Given the description of an element on the screen output the (x, y) to click on. 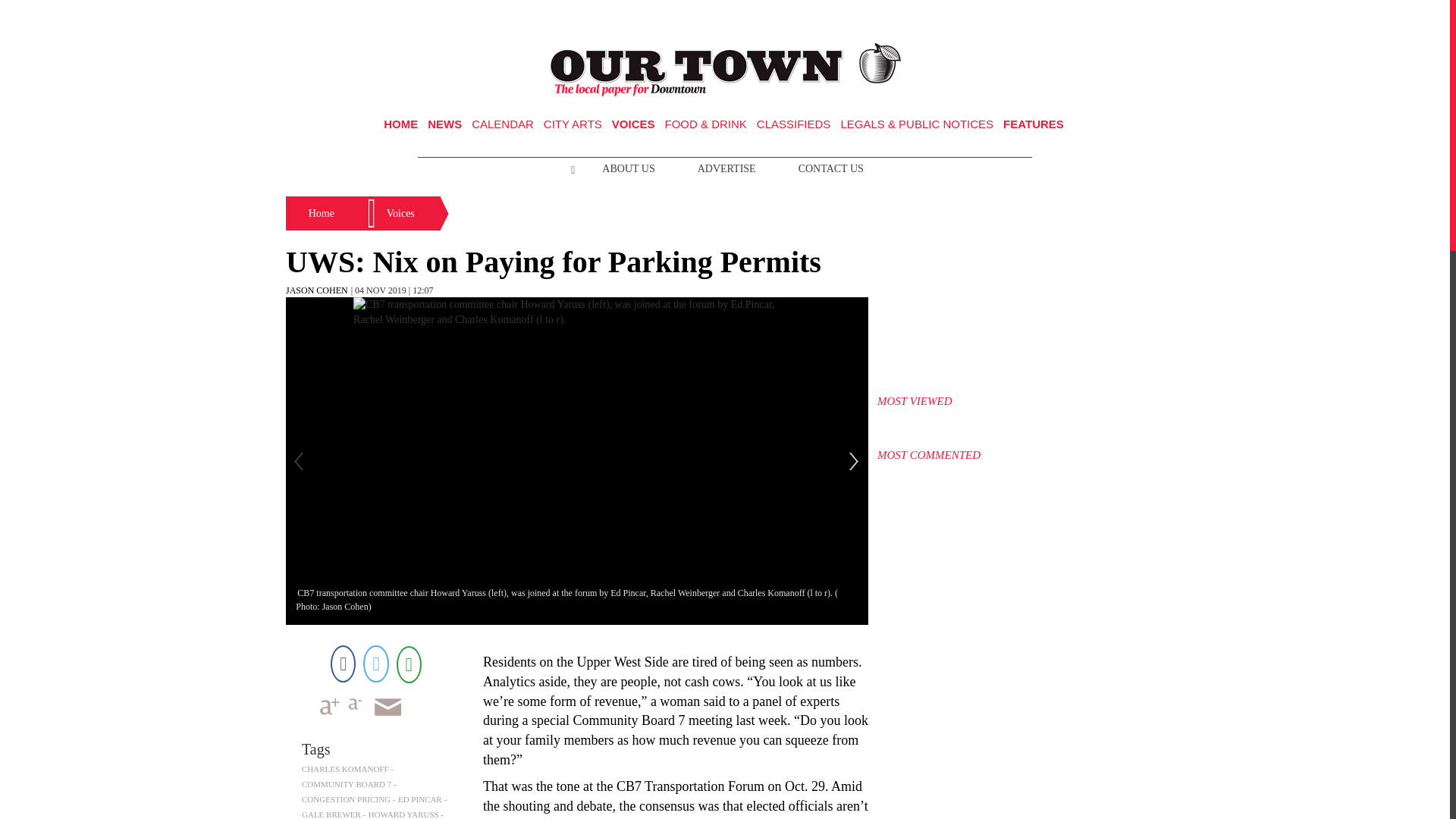
CLASSIFIEDS (794, 123)
HOME (400, 123)
ADVERTISE (726, 168)
FEATURES (1033, 123)
CONTACT US (831, 168)
CALENDAR (502, 123)
ABOUT US (627, 168)
NEWS (444, 123)
CITY ARTS (572, 123)
VOICES (633, 123)
